Given the description of an element on the screen output the (x, y) to click on. 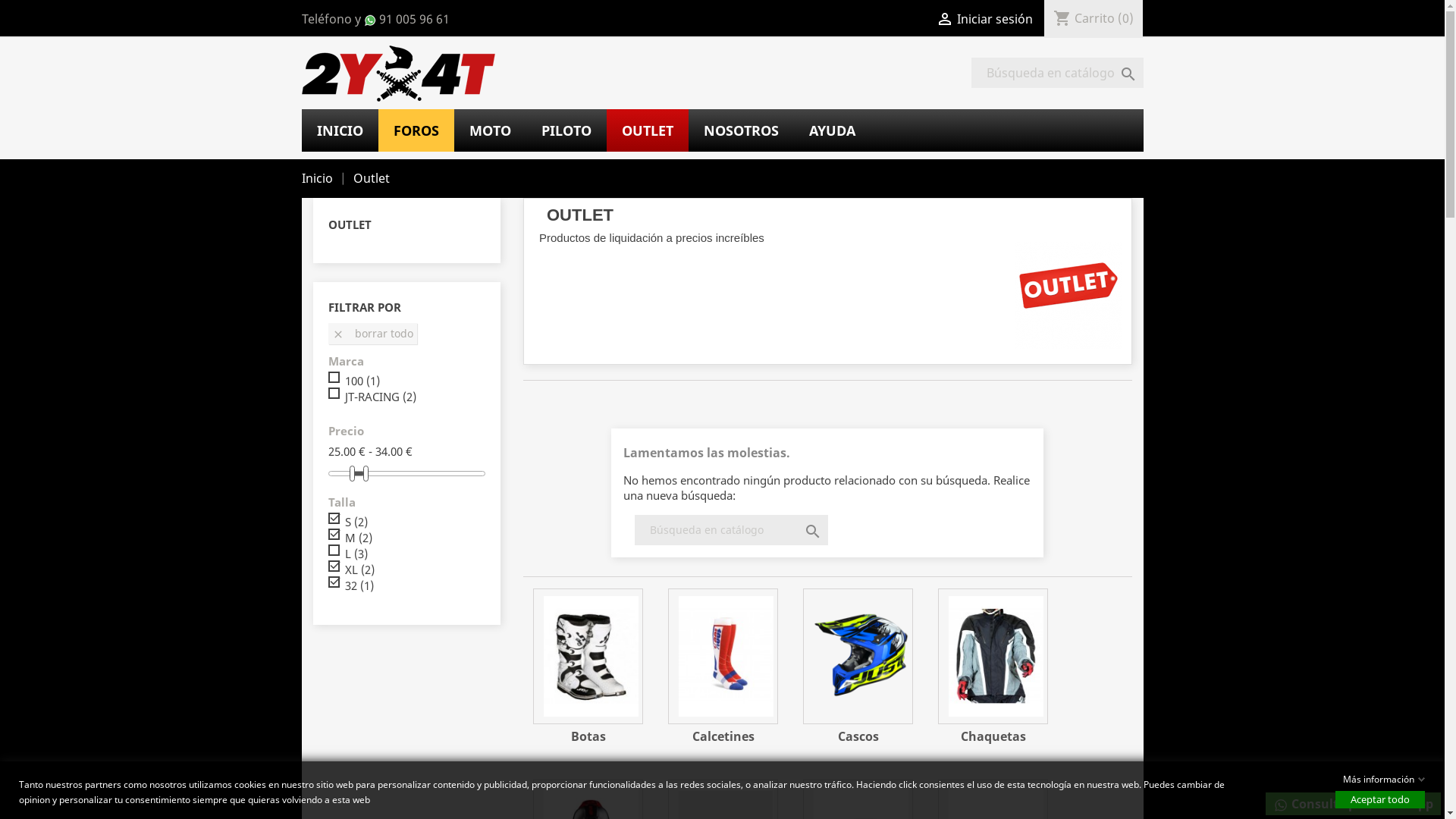
XL (2) Element type: text (358, 569)
L (3) Element type: text (355, 553)
M (2) Element type: text (357, 537)
OUTLET Element type: text (647, 130)
32 (1) Element type: text (358, 585)
FOROS Element type: text (415, 130)
S (2) Element type: text (355, 521)
Calcetines Element type: text (722, 736)
100 (1) Element type: text (361, 380)
JT-RACING (2) Element type: text (379, 396)
Botas Element type: text (587, 736)
Cascos Element type: hover (858, 656)
Inicio Element type: text (318, 177)
Calcetines Element type: hover (723, 656)
AYUDA Element type: text (831, 130)
Chaquetas Element type: text (992, 736)
OUTLET Element type: text (348, 224)
Botas Element type: hover (588, 656)
Outlet Element type: text (371, 177)
Consulte por Whatsapp Element type: text (1352, 803)
Aceptar todo Element type: text (1379, 799)
NOSOTROS Element type: text (740, 130)
Chaquetas Element type: hover (993, 656)
PILOTO Element type: text (566, 130)
INICIO Element type: text (339, 130)
Cascos Element type: text (857, 736)
MOTO Element type: text (489, 130)
